Given the description of an element on the screen output the (x, y) to click on. 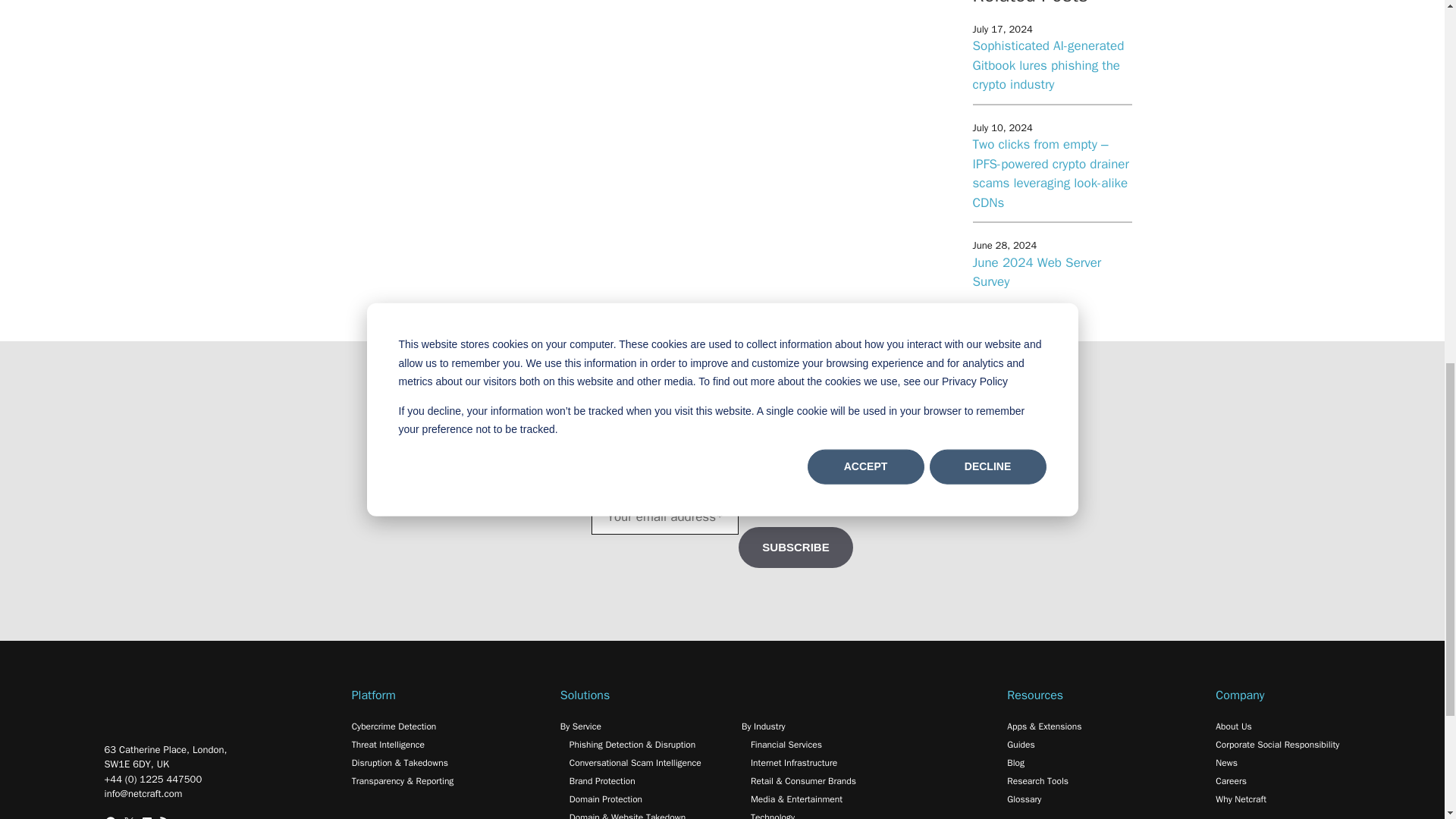
SUBSCRIBE (794, 547)
